Given the description of an element on the screen output the (x, y) to click on. 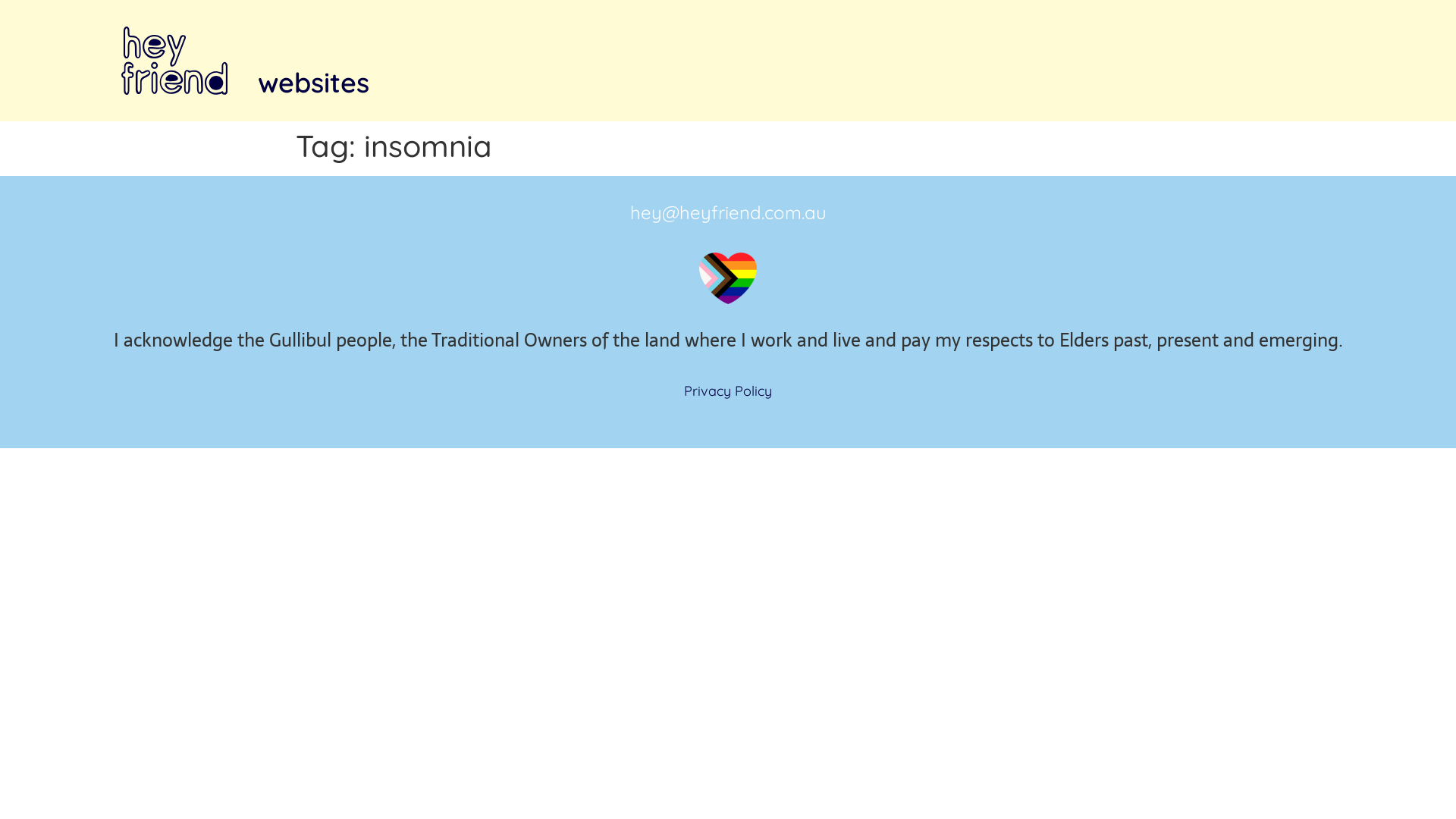
Privacy Policy Element type: text (727, 390)
websites Element type: text (313, 82)
